Given the description of an element on the screen output the (x, y) to click on. 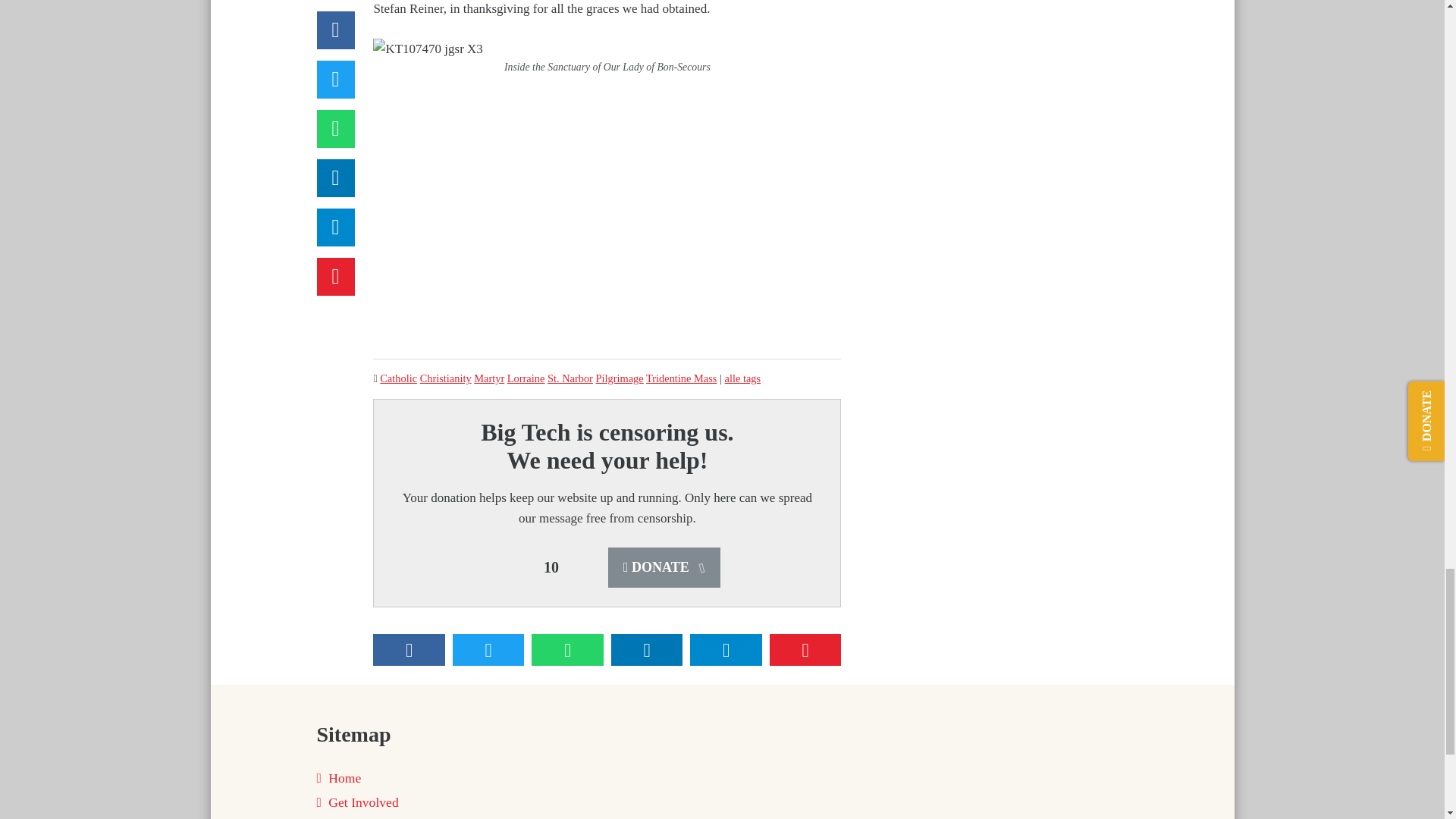
YouTube video player (606, 214)
10 (551, 567)
